Given the description of an element on the screen output the (x, y) to click on. 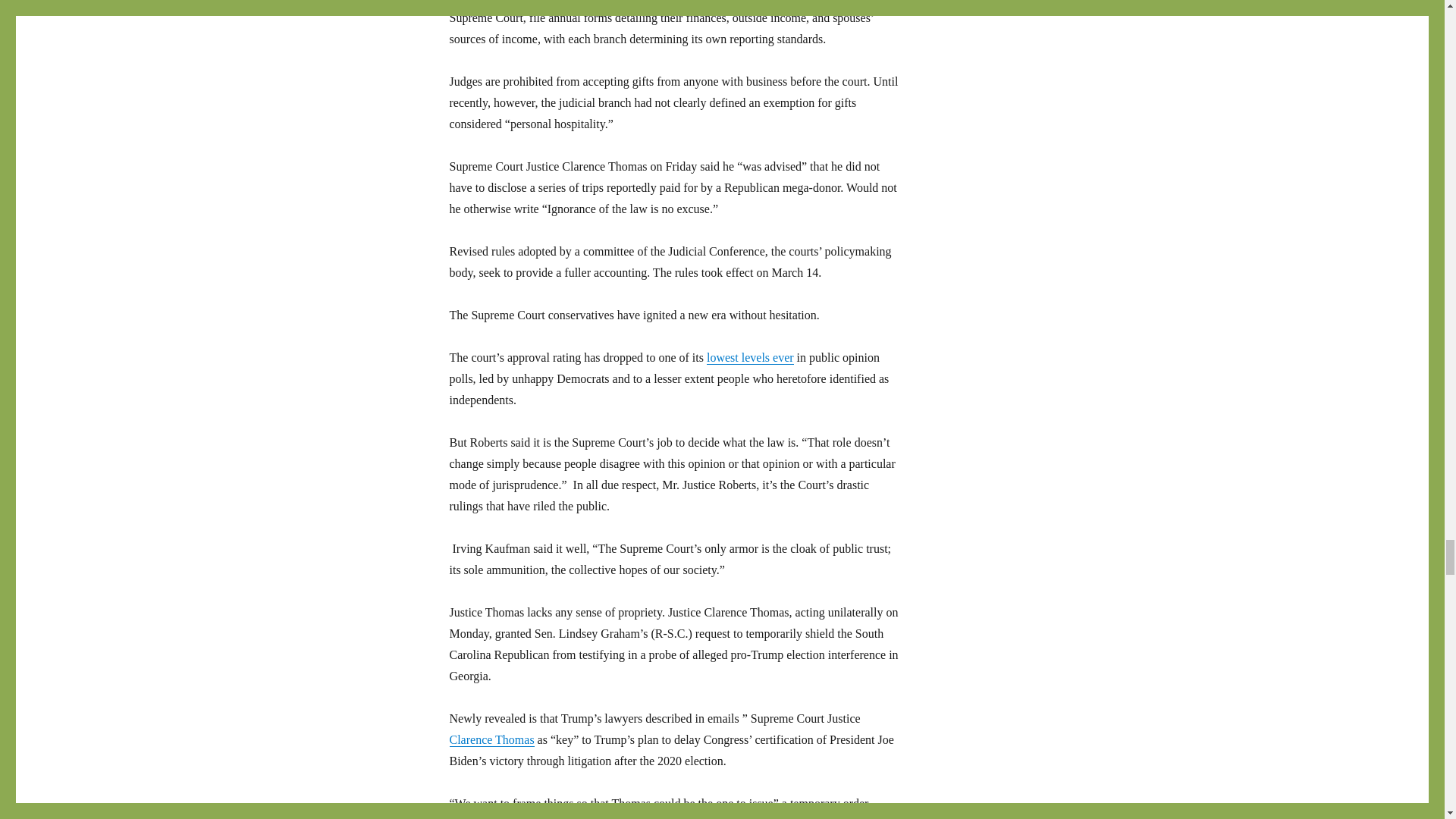
Clarence Thomas (491, 739)
lowest levels ever (749, 357)
